Given the description of an element on the screen output the (x, y) to click on. 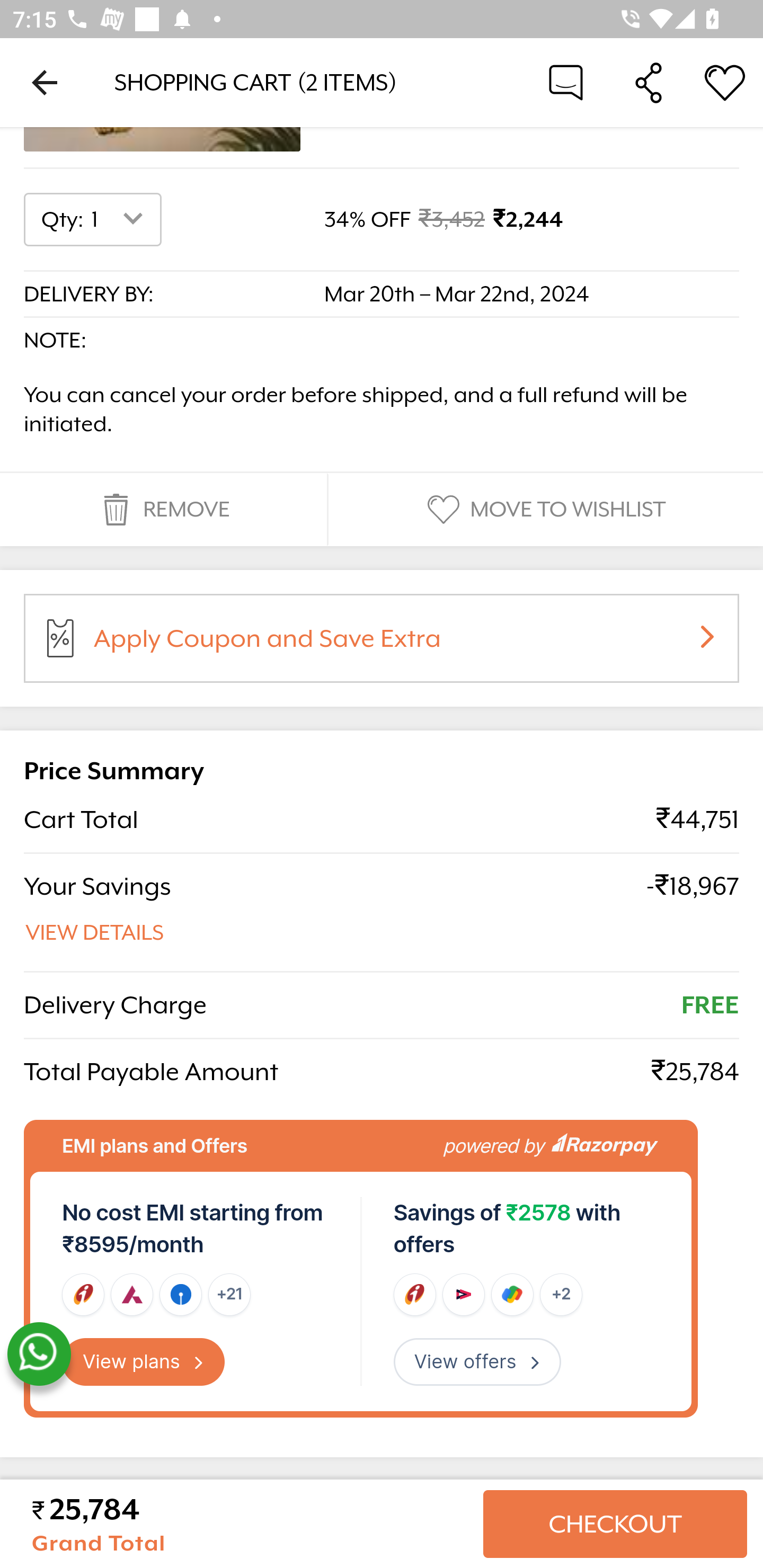
Navigate up (44, 82)
Chat (565, 81)
Share Cart (648, 81)
Wishlist (724, 81)
1 (121, 220)
REMOVE (163, 509)
MOVE TO WISHLIST (544, 509)
Apply Coupon and Save Extra (402, 644)
VIEW DETAILS (95, 933)
whatsapp (38, 1354)
View plans (143, 1362)
View offers (476, 1362)
₹ 50,003 Grand Total (250, 1523)
CHECKOUT (614, 1523)
